Given the description of an element on the screen output the (x, y) to click on. 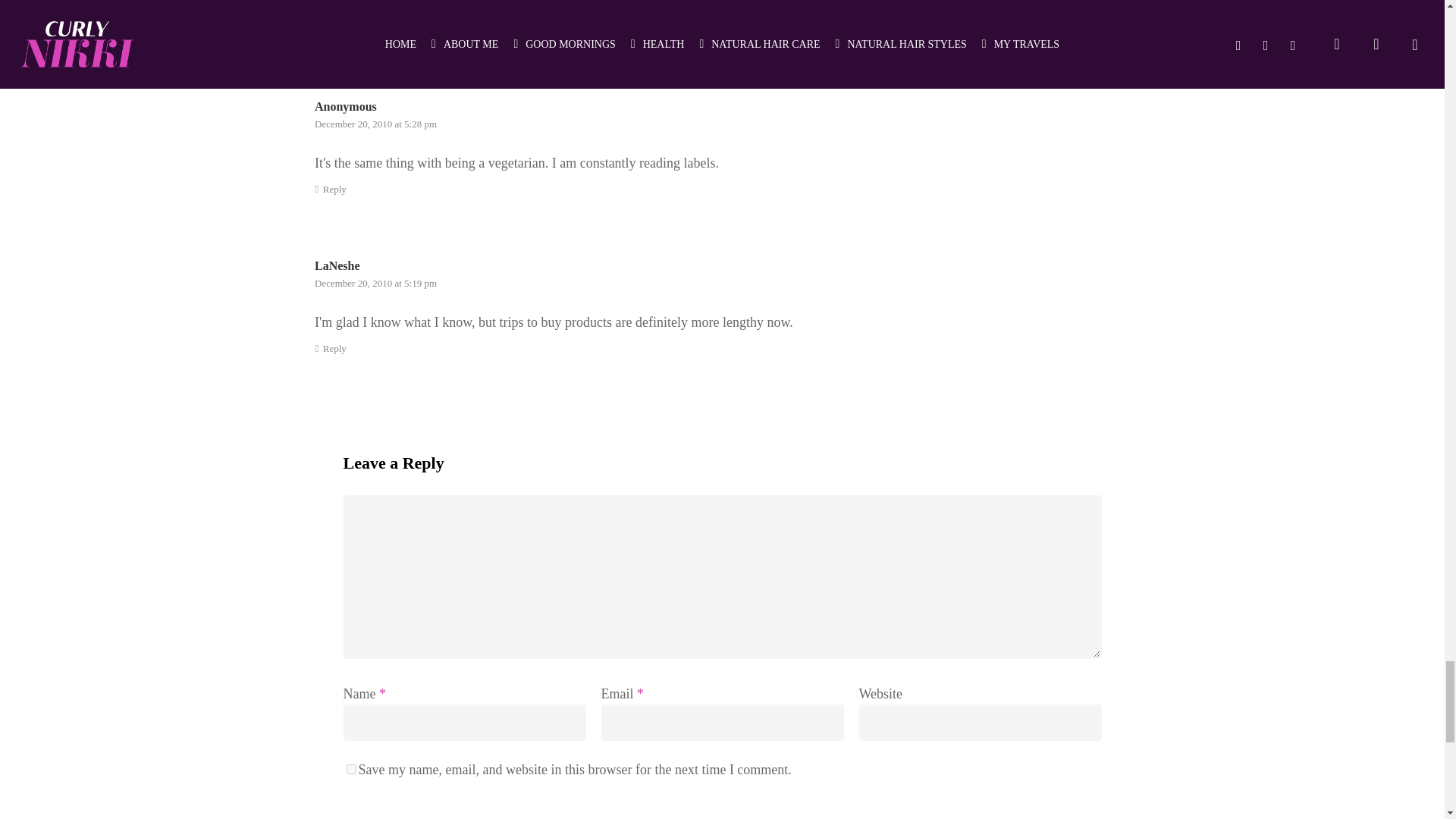
yes (350, 768)
